Given the description of an element on the screen output the (x, y) to click on. 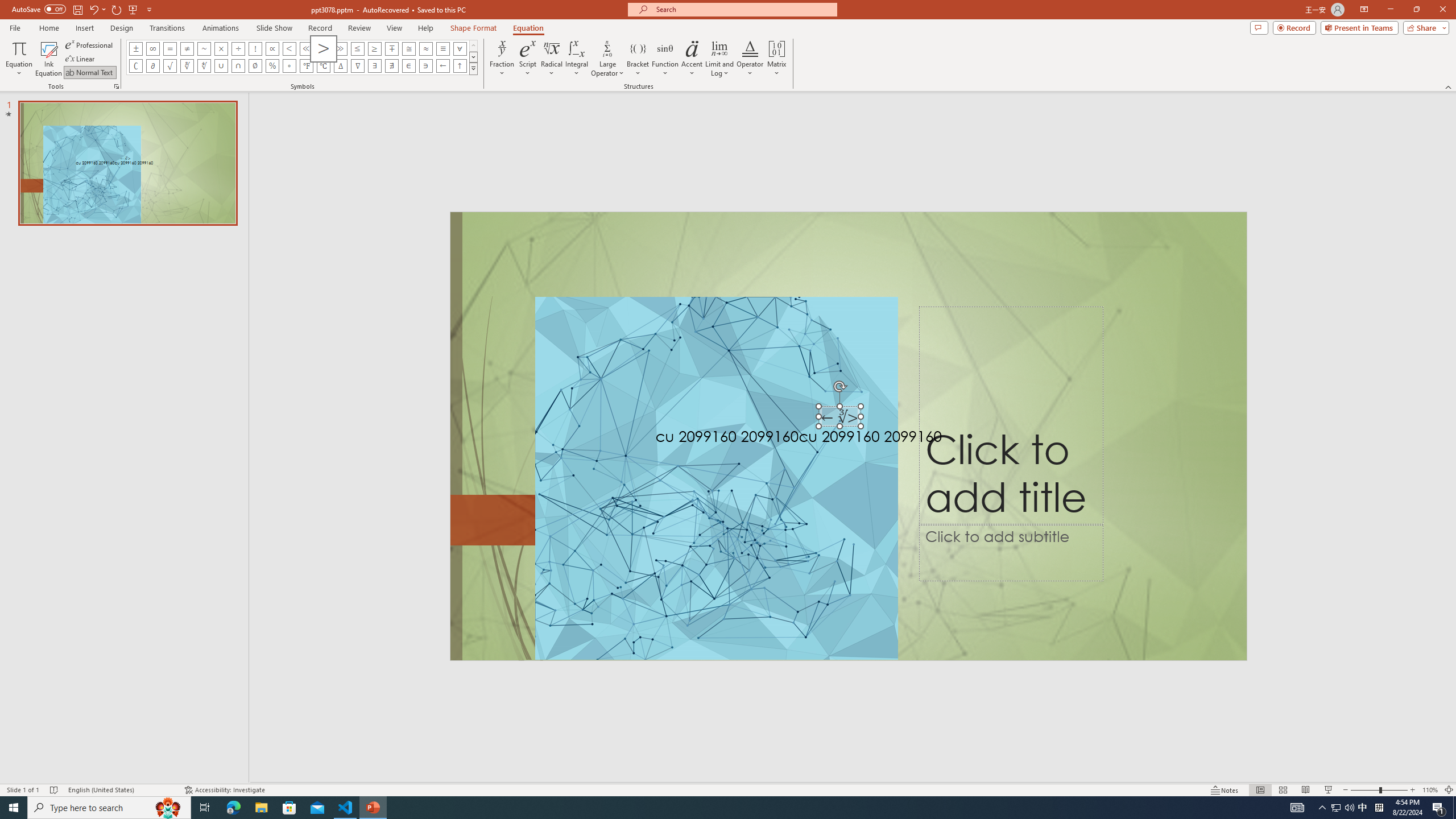
Equation Symbol Equal (170, 48)
Equation Symbol Nabla (357, 65)
Equation Symbol Empty Set (255, 65)
Equation Symbol Identical To (442, 48)
Equation Symbol Partial Differential (152, 65)
Equation Symbol Approximately (203, 48)
